Given the description of an element on the screen output the (x, y) to click on. 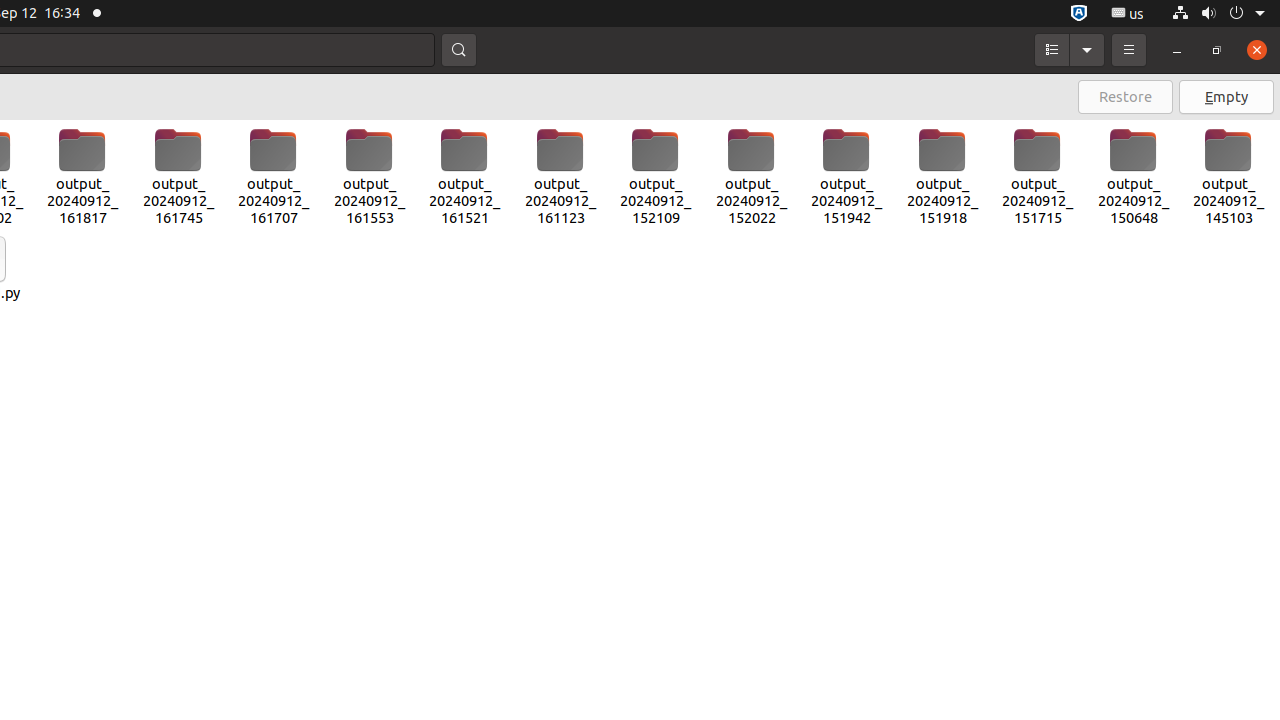
output_20240912_152109 Element type: canvas (656, 177)
output_20240912_151715 Element type: canvas (1037, 177)
output_20240912_152022 Element type: canvas (751, 177)
Restore Element type: push-button (1125, 97)
